Given the description of an element on the screen output the (x, y) to click on. 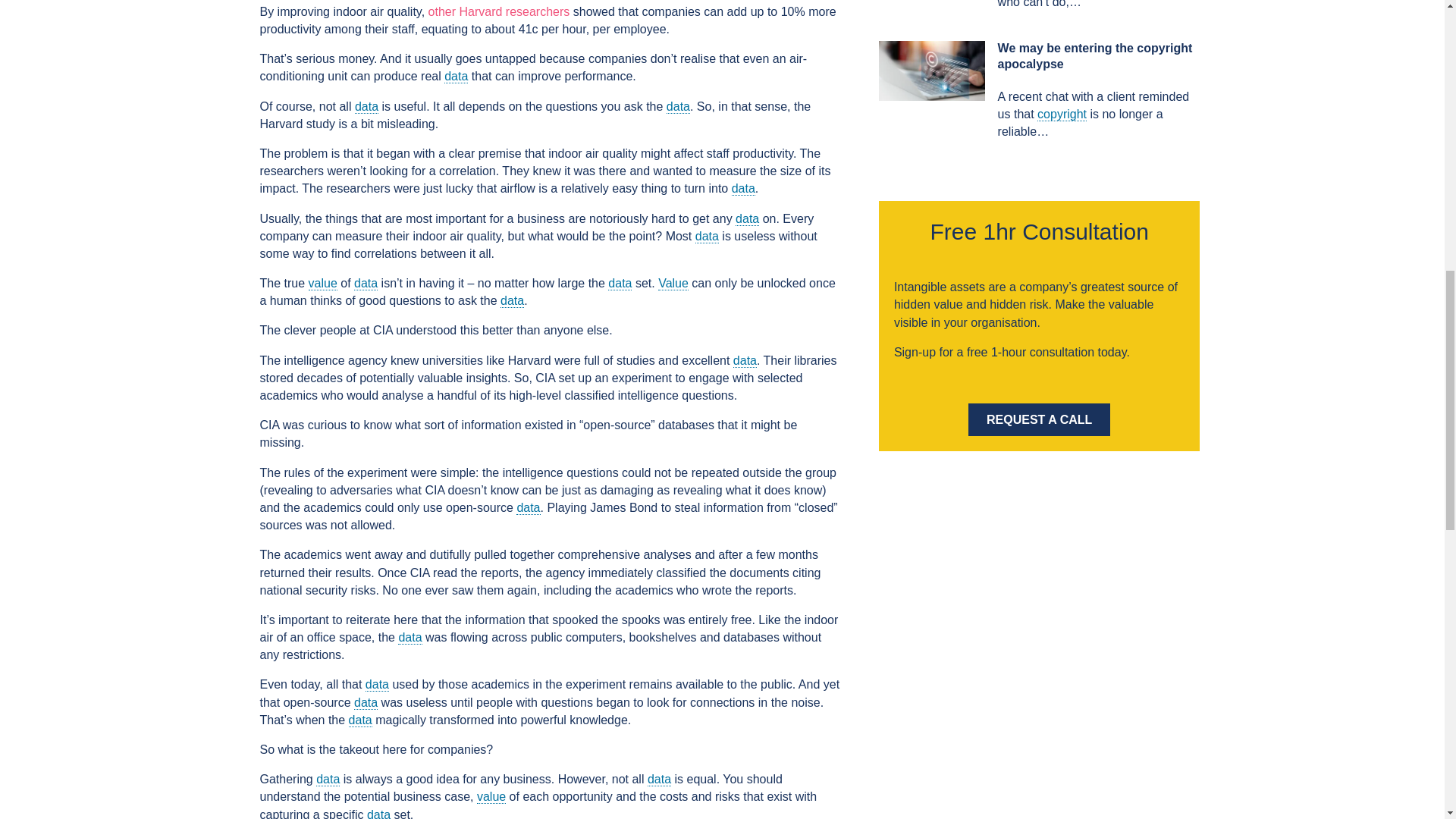
data (366, 106)
We may be entering the copyright apocalypse (932, 69)
data (365, 703)
data (365, 283)
Value (673, 283)
data (619, 283)
data (745, 360)
data (678, 106)
data (409, 637)
other Harvard researchers (499, 11)
